Given the description of an element on the screen output the (x, y) to click on. 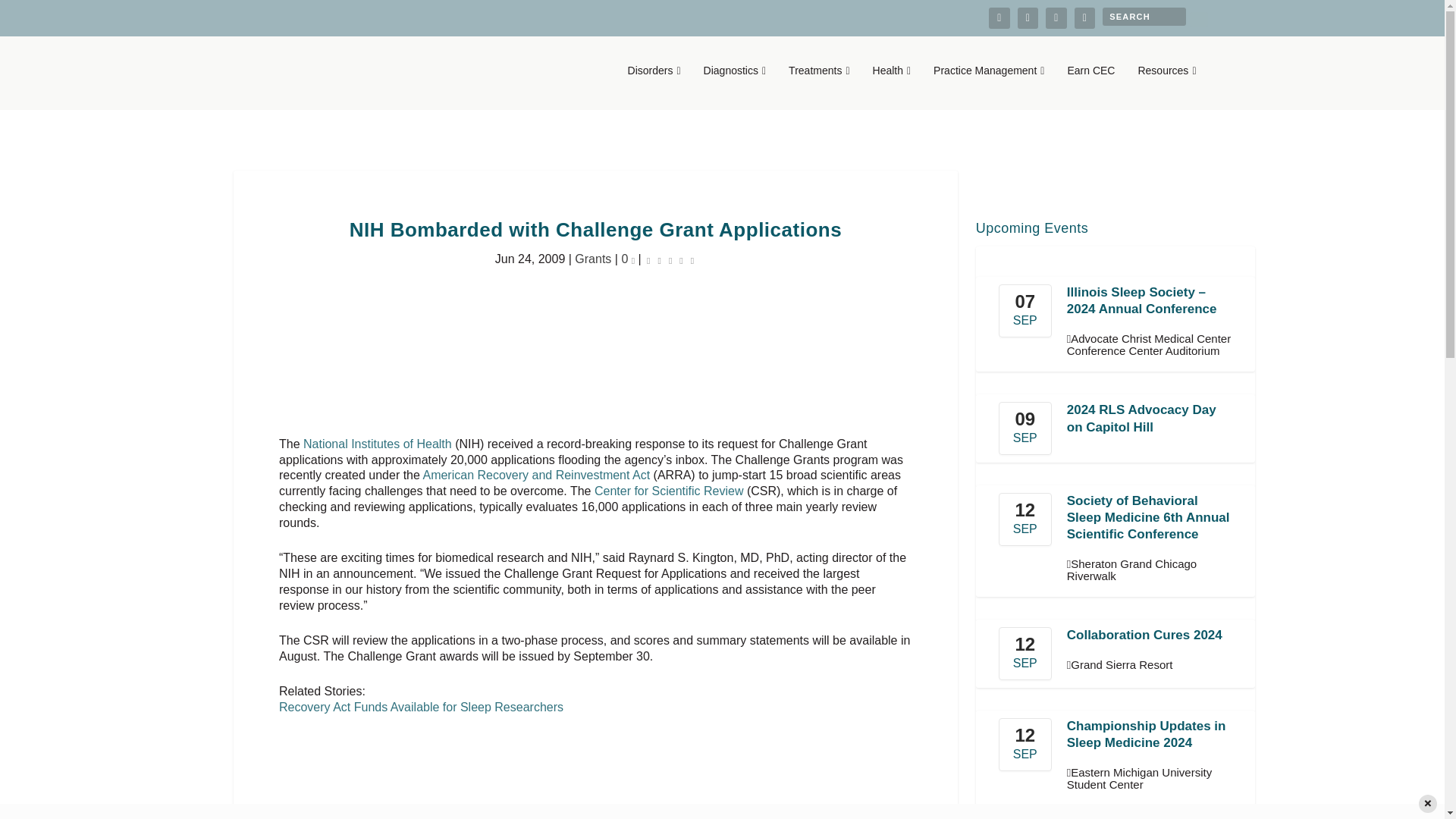
Practice Management (988, 86)
Rating: 0.00 (670, 259)
Diagnostics (735, 86)
Treatments (818, 86)
Search for: (1144, 16)
Resources (1166, 86)
Disorders (654, 86)
Earn CEC (1091, 86)
